Given the description of an element on the screen output the (x, y) to click on. 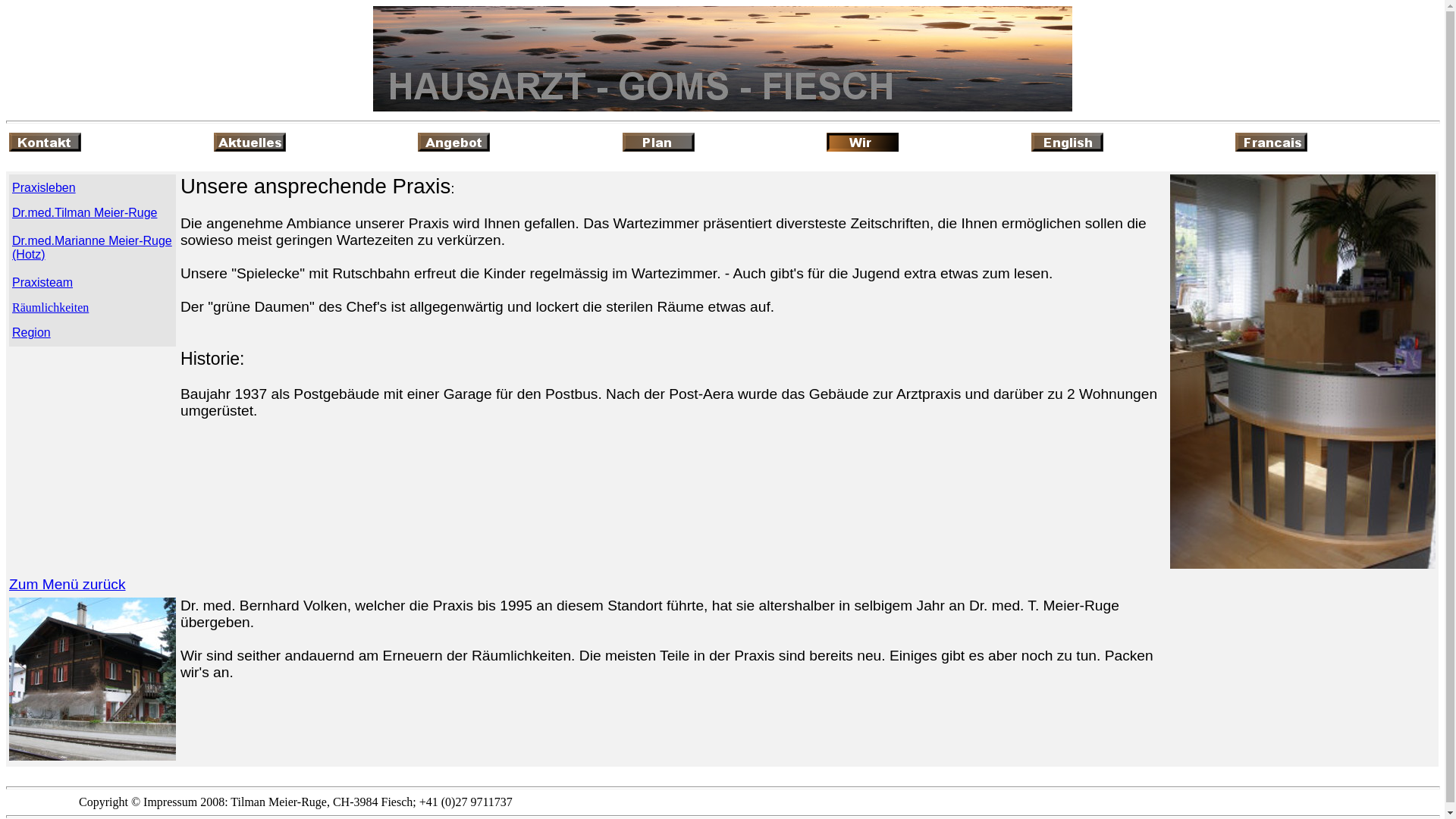
Praxisleben Element type: text (43, 187)
Dr.med.Marianne Meier-Ruge (Hotz) Element type: text (92, 247)
Region Element type: text (31, 332)
Dr.med.Tilman Meier-Ruge Element type: text (84, 212)
Praxisteam Element type: text (42, 282)
